Given the description of an element on the screen output the (x, y) to click on. 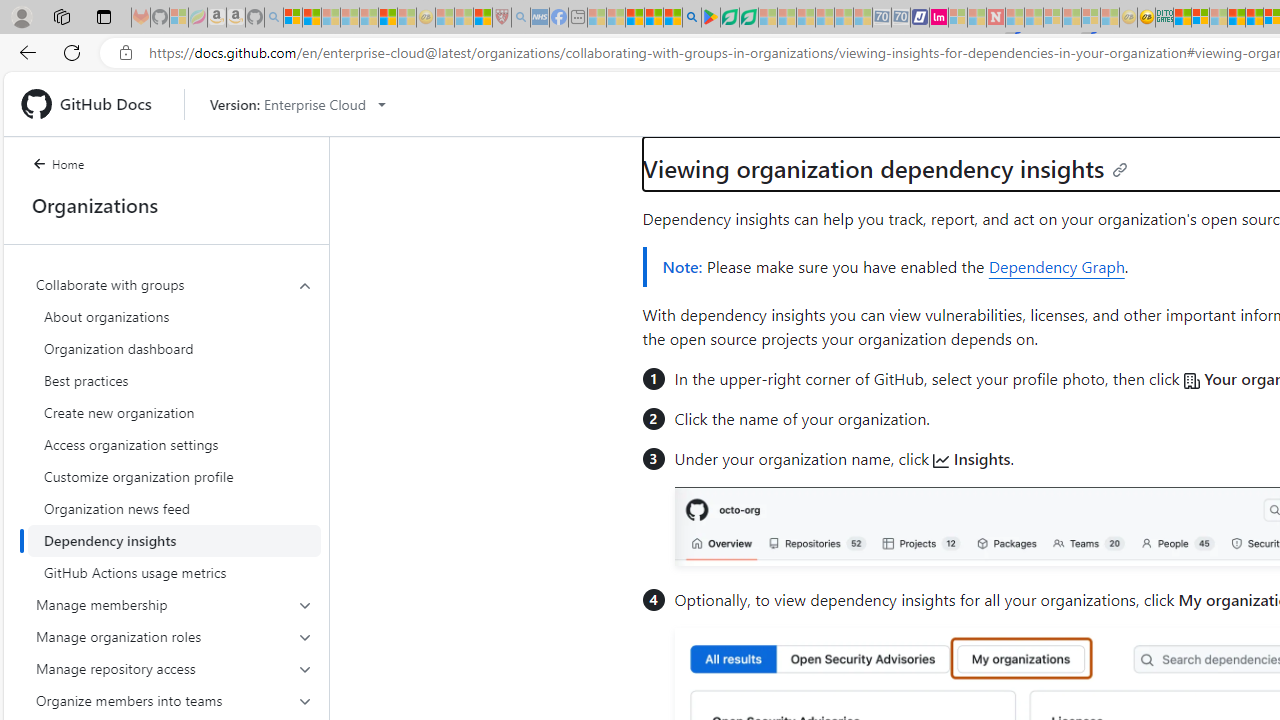
Organize members into teams (174, 700)
Manage organization roles (174, 636)
Viewing organization dependency insights (885, 167)
Local - MSN (482, 17)
